Given the description of an element on the screen output the (x, y) to click on. 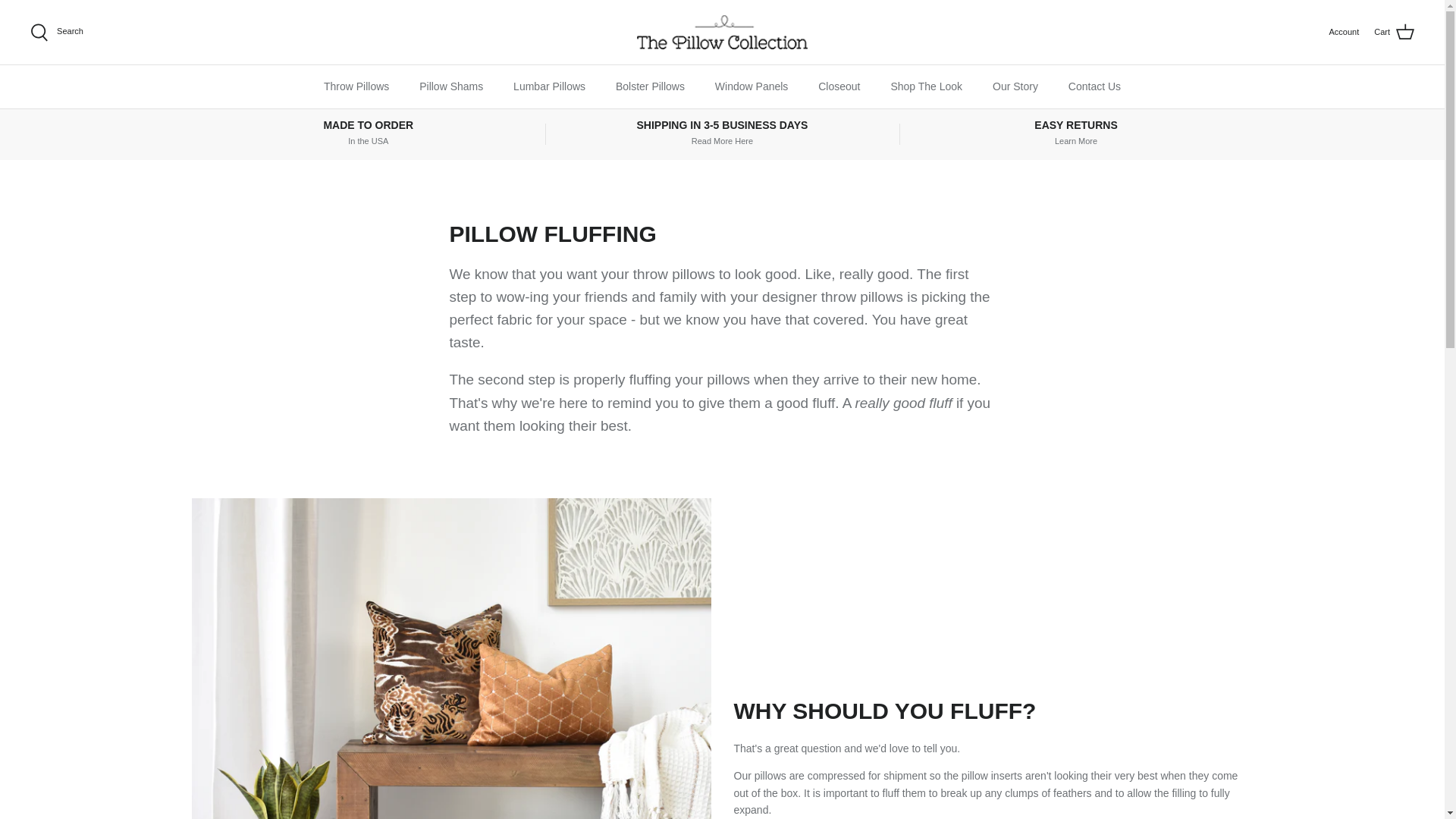
Search (56, 31)
Throw Pillows (356, 86)
Cart (1393, 32)
Pillow Collection (722, 32)
Account (1342, 32)
